Given the description of an element on the screen output the (x, y) to click on. 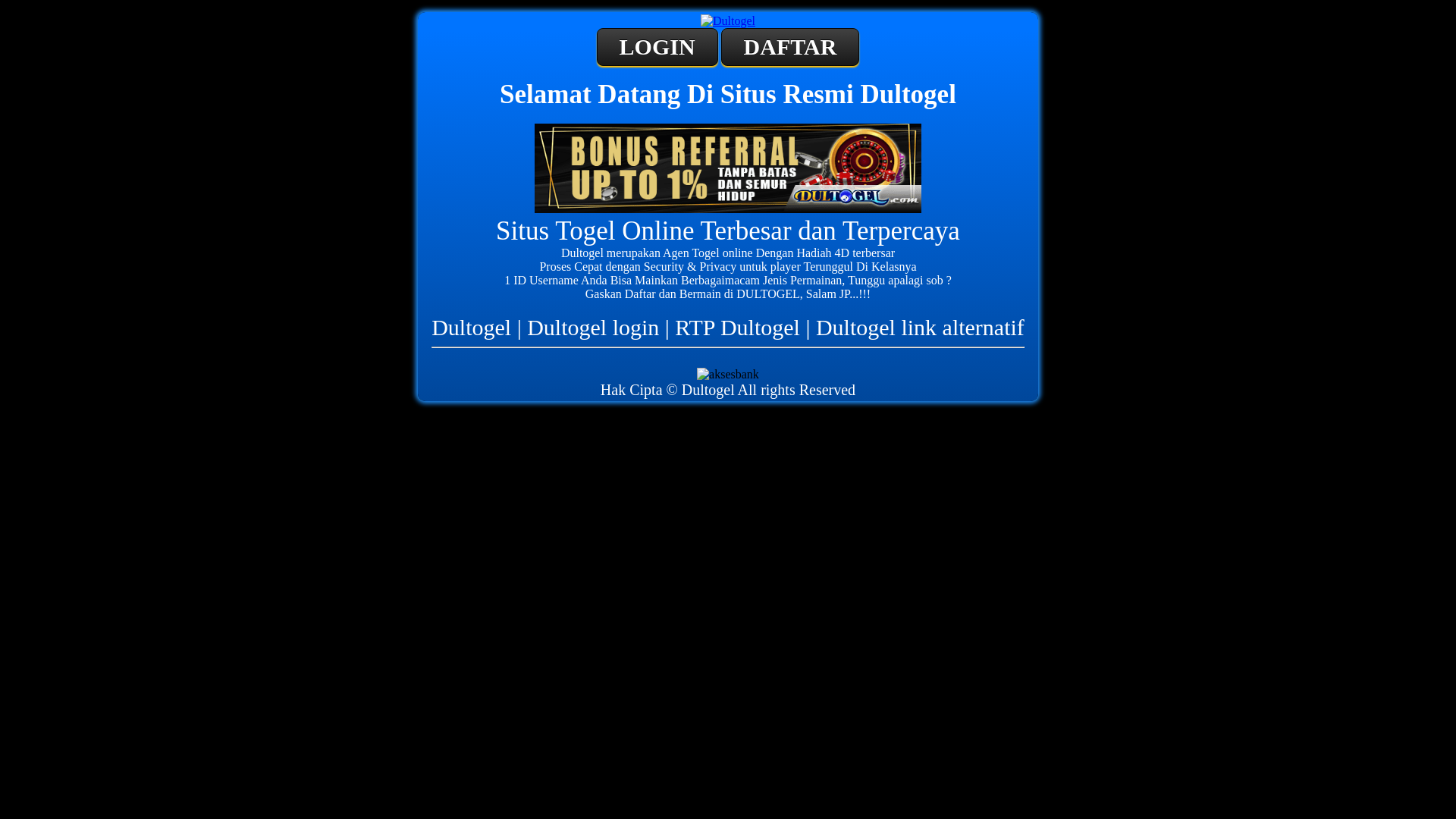
DAFTAR Element type: text (790, 46)
aksesbank Element type: hover (727, 374)
Dultogel Element type: hover (727, 21)
LOGIN Element type: text (657, 46)
Dultogel Element type: hover (727, 168)
